Given the description of an element on the screen output the (x, y) to click on. 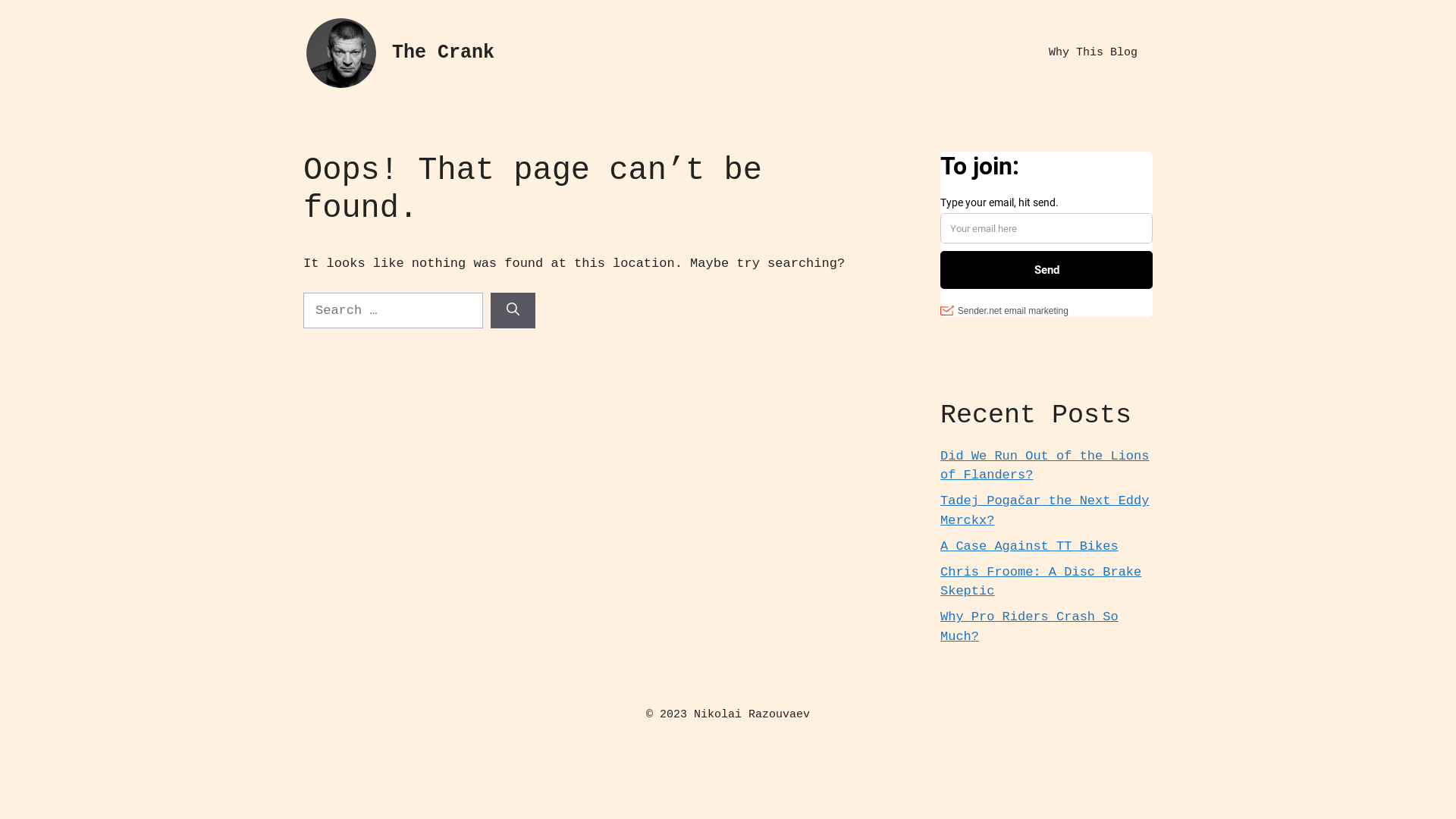
A Case Against TT Bikes Element type: text (1029, 546)
Why Pro Riders Crash So Much? Element type: text (1029, 626)
Did We Run Out of the Lions of Flanders? Element type: text (1044, 465)
Why This Blog Element type: text (1092, 52)
Chris Froome: A Disc Brake Skeptic Element type: text (1040, 581)
Search for: Element type: hover (393, 310)
The Crank Element type: text (443, 52)
